Given the description of an element on the screen output the (x, y) to click on. 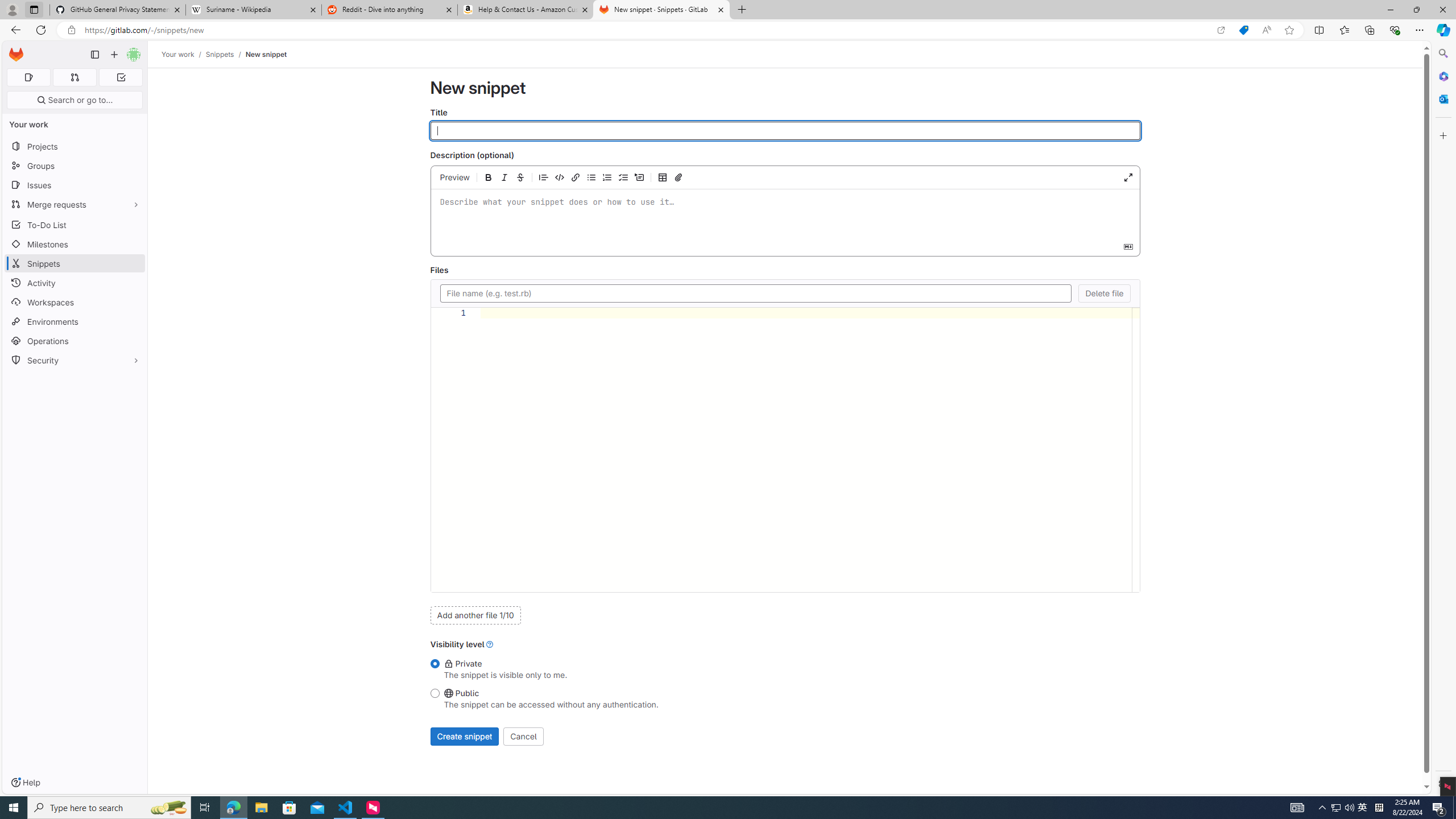
Cancel (523, 736)
Open in app (1220, 29)
Suriname - Wikipedia (253, 9)
Issues (74, 185)
Markdown is supported (1127, 246)
To-Do List (74, 224)
Milestones (74, 244)
Add italic text (Ctrl+I) (504, 177)
